Given the description of an element on the screen output the (x, y) to click on. 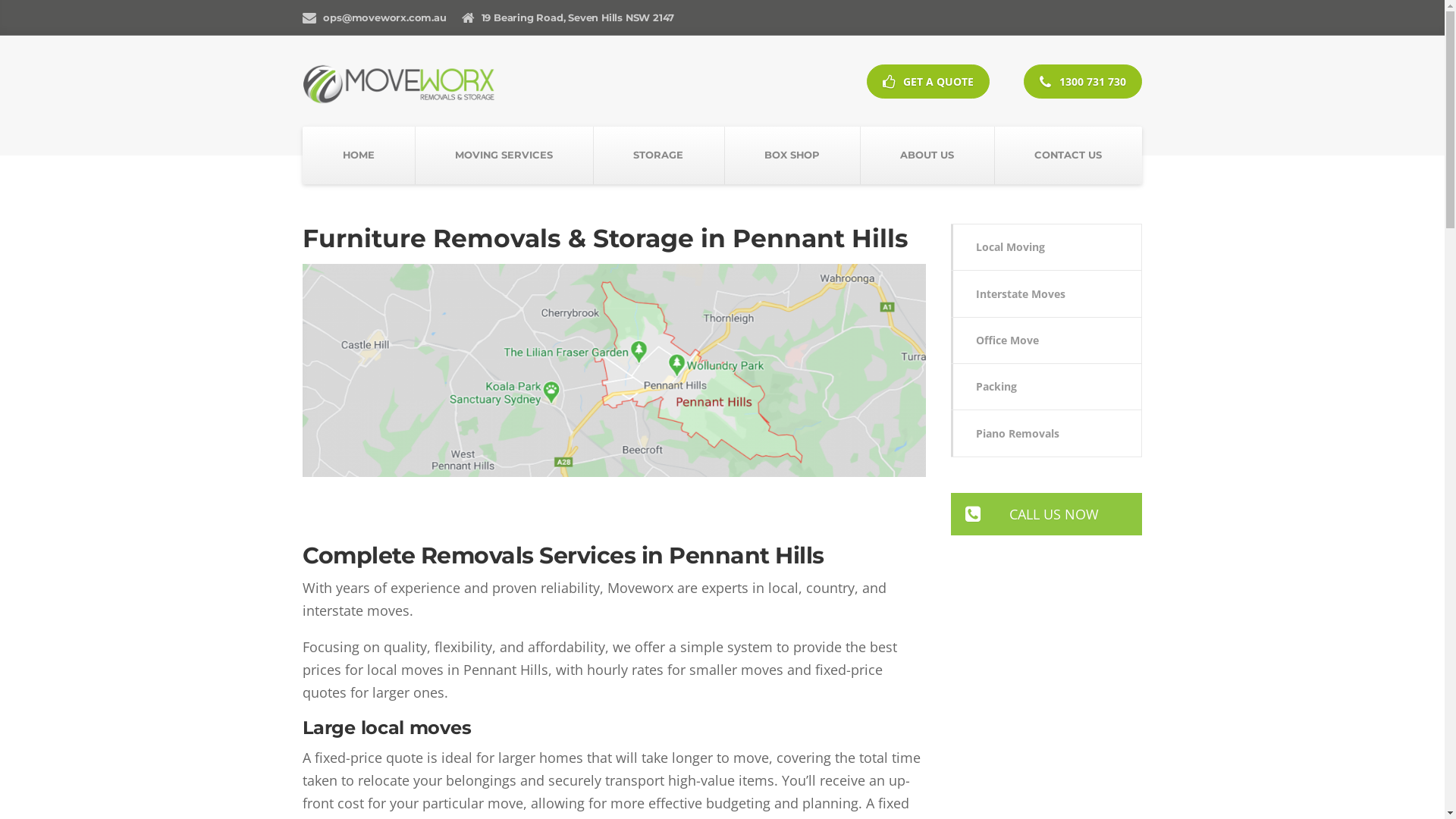
ABOUT US Element type: text (926, 155)
Local Moving Element type: text (1045, 246)
CONTACT US Element type: text (1068, 155)
Interstate Moves Element type: text (1045, 293)
GET A QUOTE Element type: text (927, 81)
STORAGE Element type: text (658, 155)
Office Move Element type: text (1045, 339)
1300 731 730 Element type: text (1082, 81)
Packing Element type: text (1045, 386)
CALL US NOW Element type: text (1045, 513)
ops@moveworx.com.au Element type: text (373, 17)
HOME Element type: text (358, 155)
19 Bearing Road, Seven Hills NSW 2147 Element type: text (567, 17)
Piano Removals Element type: text (1045, 432)
BOX SHOP Element type: text (791, 155)
MOVING SERVICES Element type: text (503, 155)
